Given the description of an element on the screen output the (x, y) to click on. 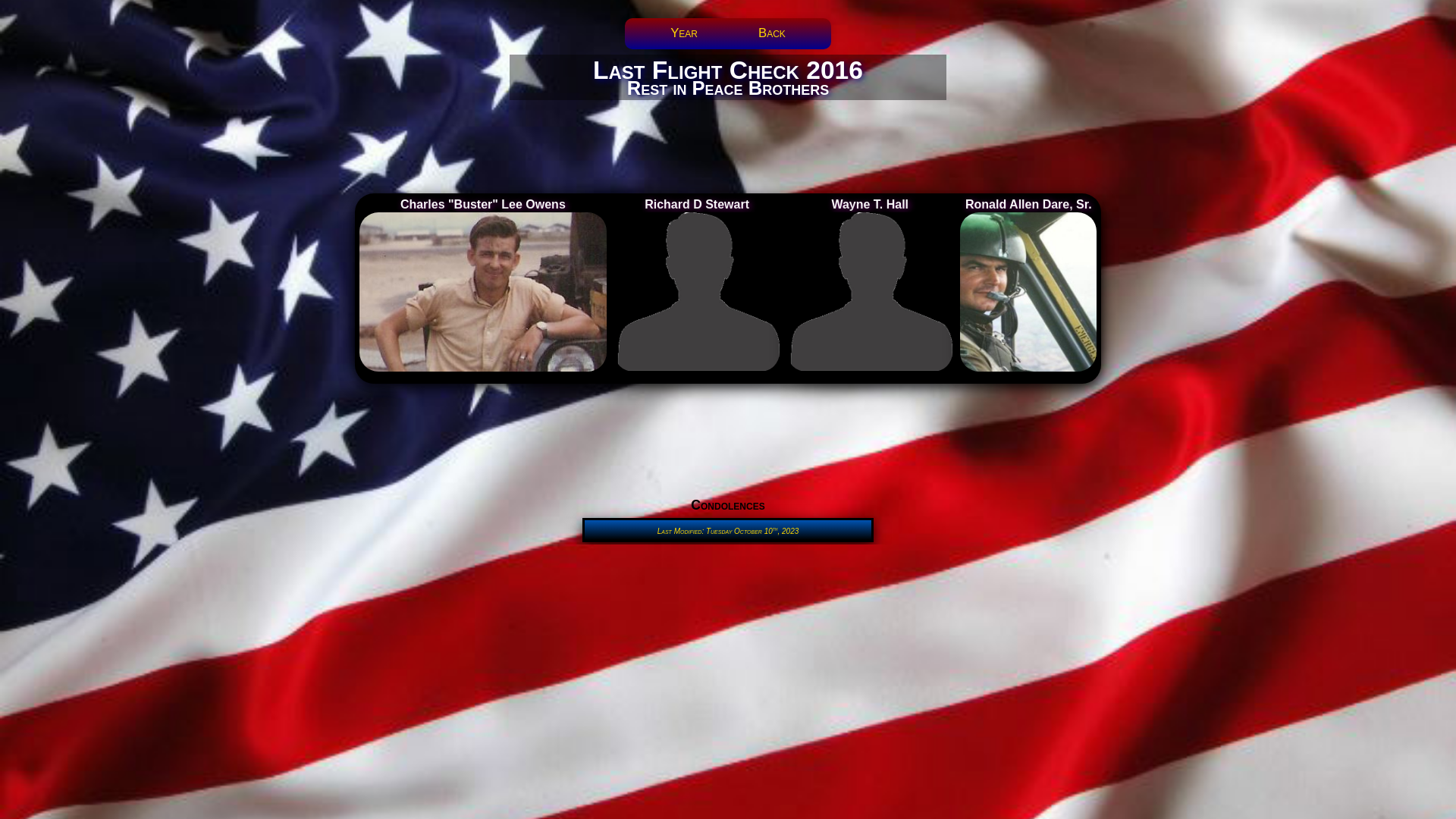
Back Element type: text (771, 33)
Photo Unavailable
March 5, 1950
December 5, 2016 Element type: hover (696, 291)
Photo Unavailable
February 27, 1946
June 24th, 2016. Element type: hover (869, 291)
Year Element type: text (684, 33)
December 21, 1947
March 21, 2016 Element type: hover (482, 291)
June 27, 1941
April 7, 2016 Element type: hover (1028, 291)
